Given the description of an element on the screen output the (x, y) to click on. 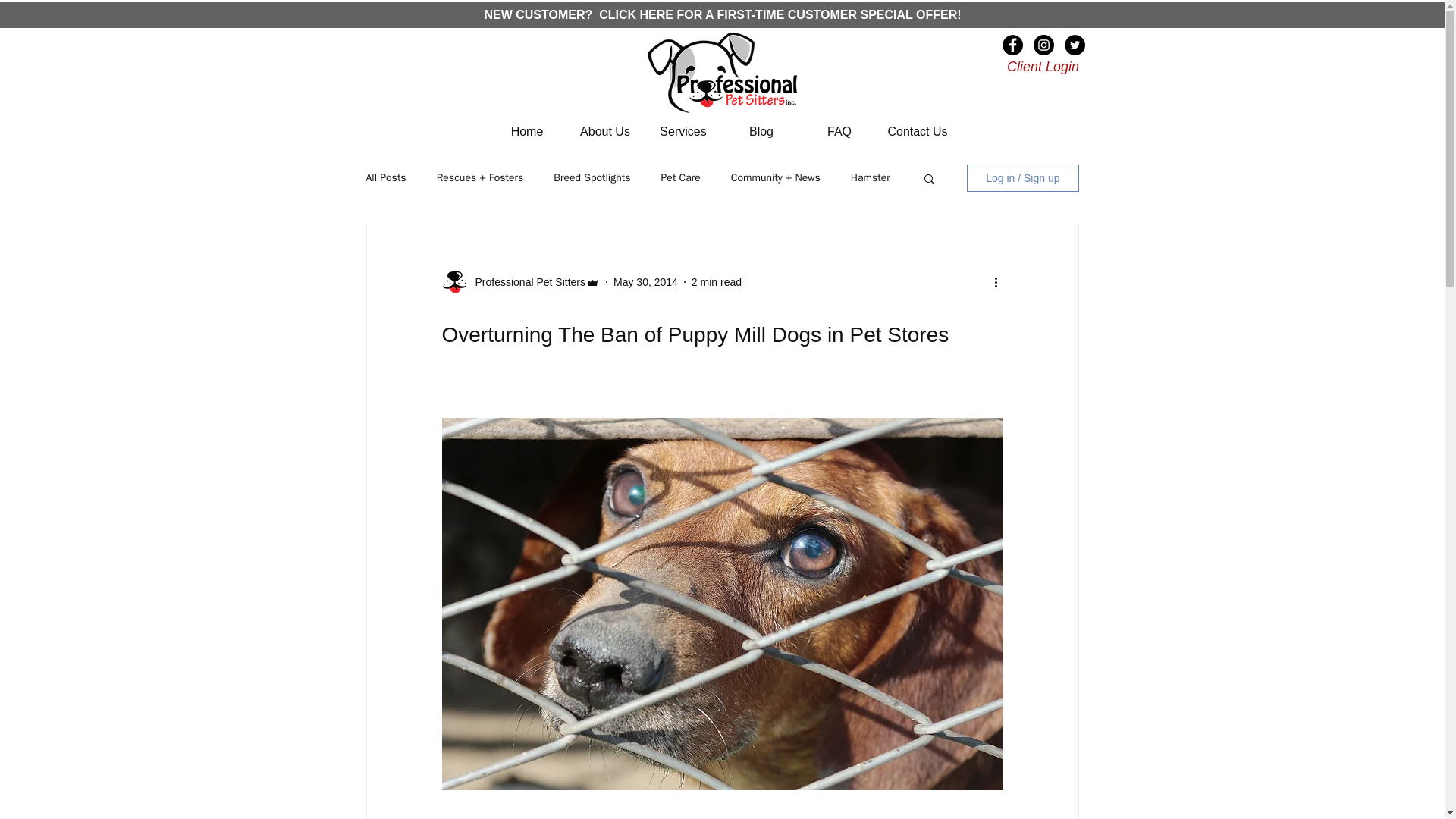
2 min read (716, 282)
Blog (760, 131)
Contact Us (916, 131)
FAQ (839, 131)
 CLICK HERE FOR A FIRST-TIME CUSTOMER SPECIAL OFFER! (777, 14)
Home (526, 131)
About Us (604, 131)
May 30, 2014 (645, 282)
Services (683, 131)
NEW CUSTOMER? (539, 14)
Pet Care (680, 178)
Professional Pet Sitters (525, 282)
Client Login (1042, 66)
Hamster (869, 178)
Breed Spotlights (591, 178)
